Given the description of an element on the screen output the (x, y) to click on. 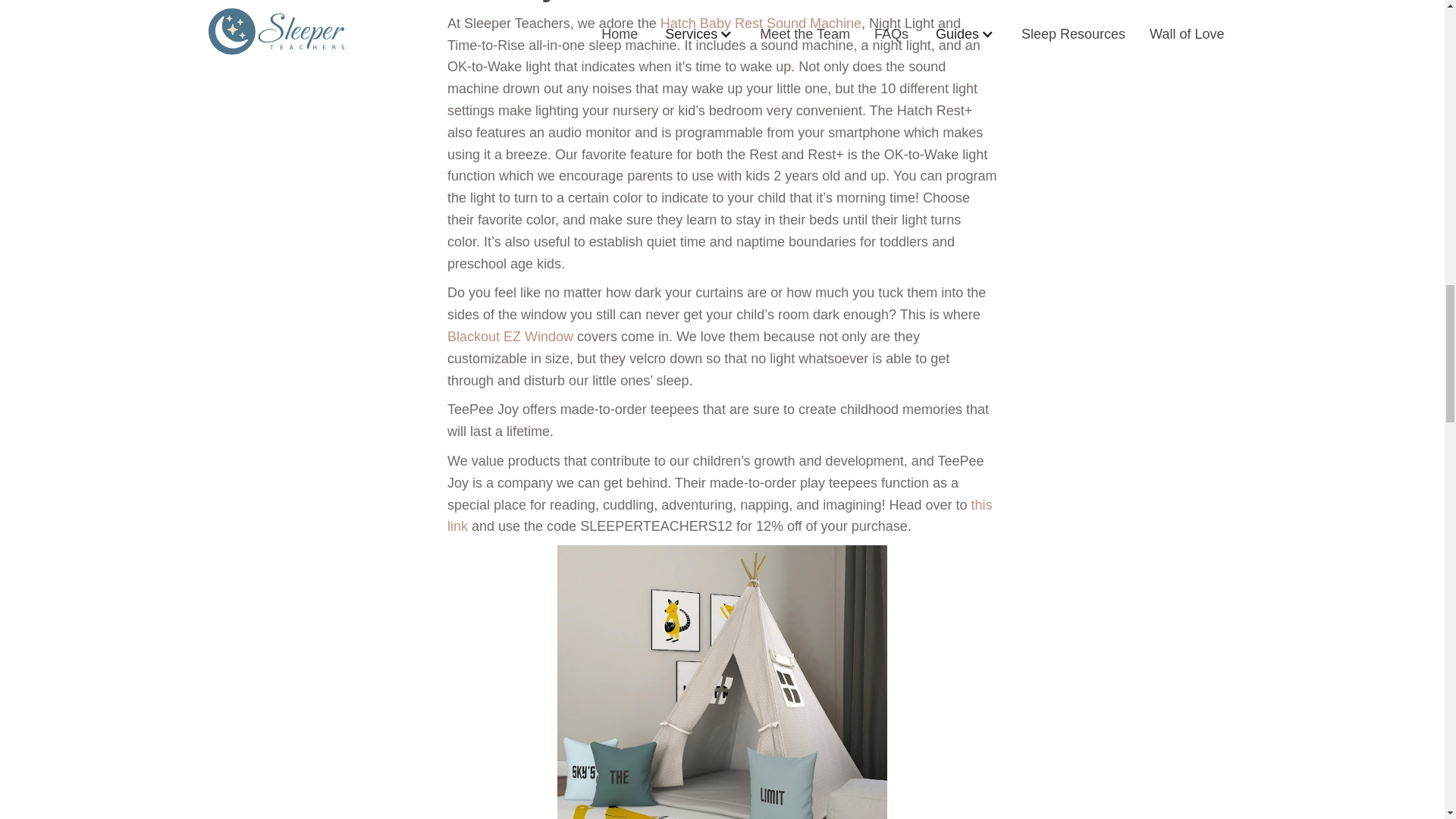
Hatch Baby Rest Sound Machine (761, 23)
Blackout EZ Window (509, 336)
this link (718, 515)
